Given the description of an element on the screen output the (x, y) to click on. 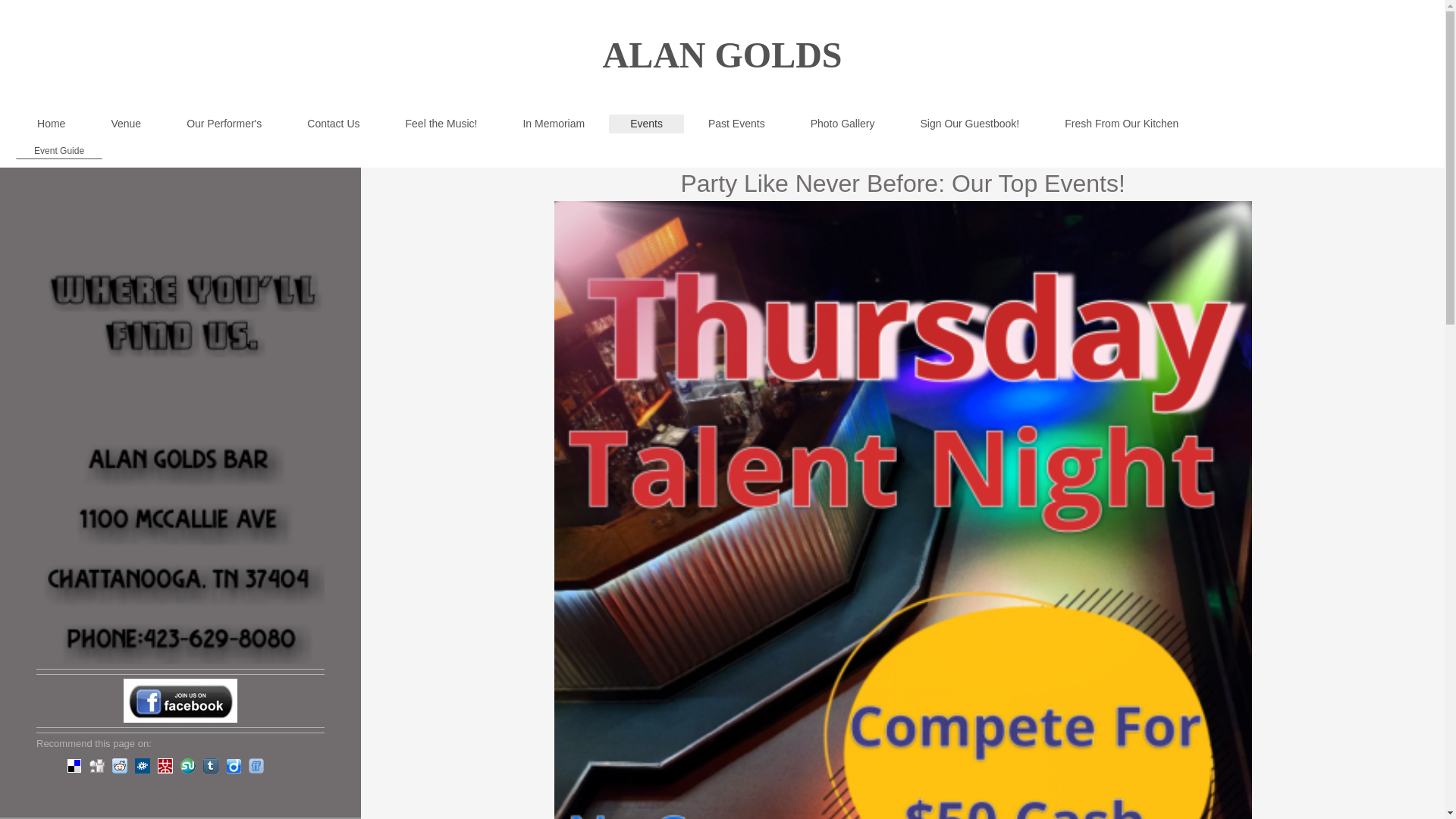
Our Performer's (223, 123)
Photo Gallery (842, 123)
Event Guide (58, 150)
Digg (96, 765)
ALAN GOLDS (721, 55)
Mister Wong (165, 765)
Tumblr (210, 765)
Home (50, 123)
Reddit (120, 765)
Sign Our Guestbook! (969, 123)
Fresh From Our Kitchen (1121, 123)
Folkd (142, 765)
Events (646, 123)
In Memoriam (552, 123)
Contact Us (332, 123)
